Given the description of an element on the screen output the (x, y) to click on. 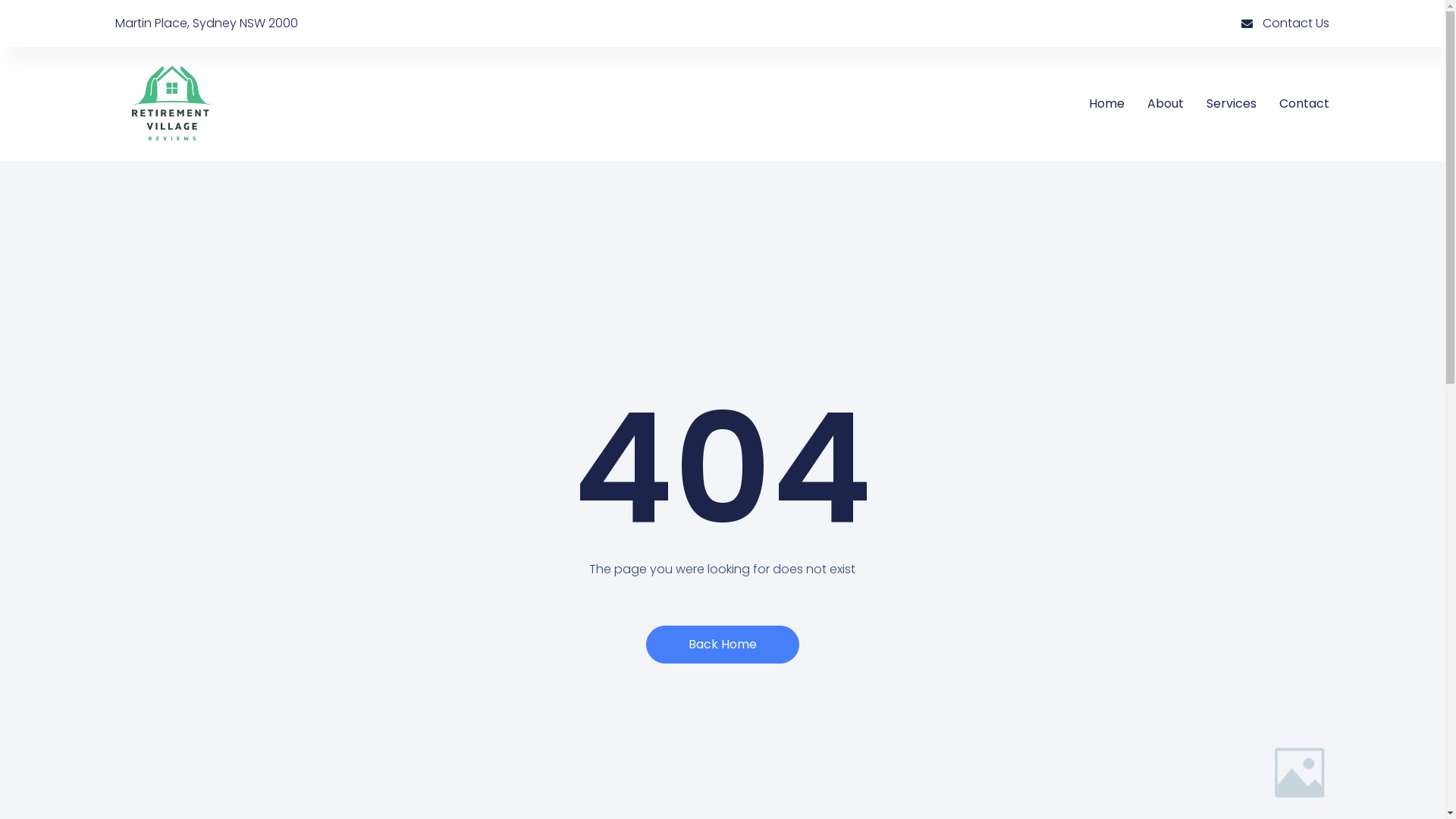
Home Element type: text (1106, 103)
Contact Us Element type: text (1024, 23)
Back Home Element type: text (722, 644)
About Element type: text (1165, 103)
Services Element type: text (1231, 103)
Contact Element type: text (1304, 103)
